Given the description of an element on the screen output the (x, y) to click on. 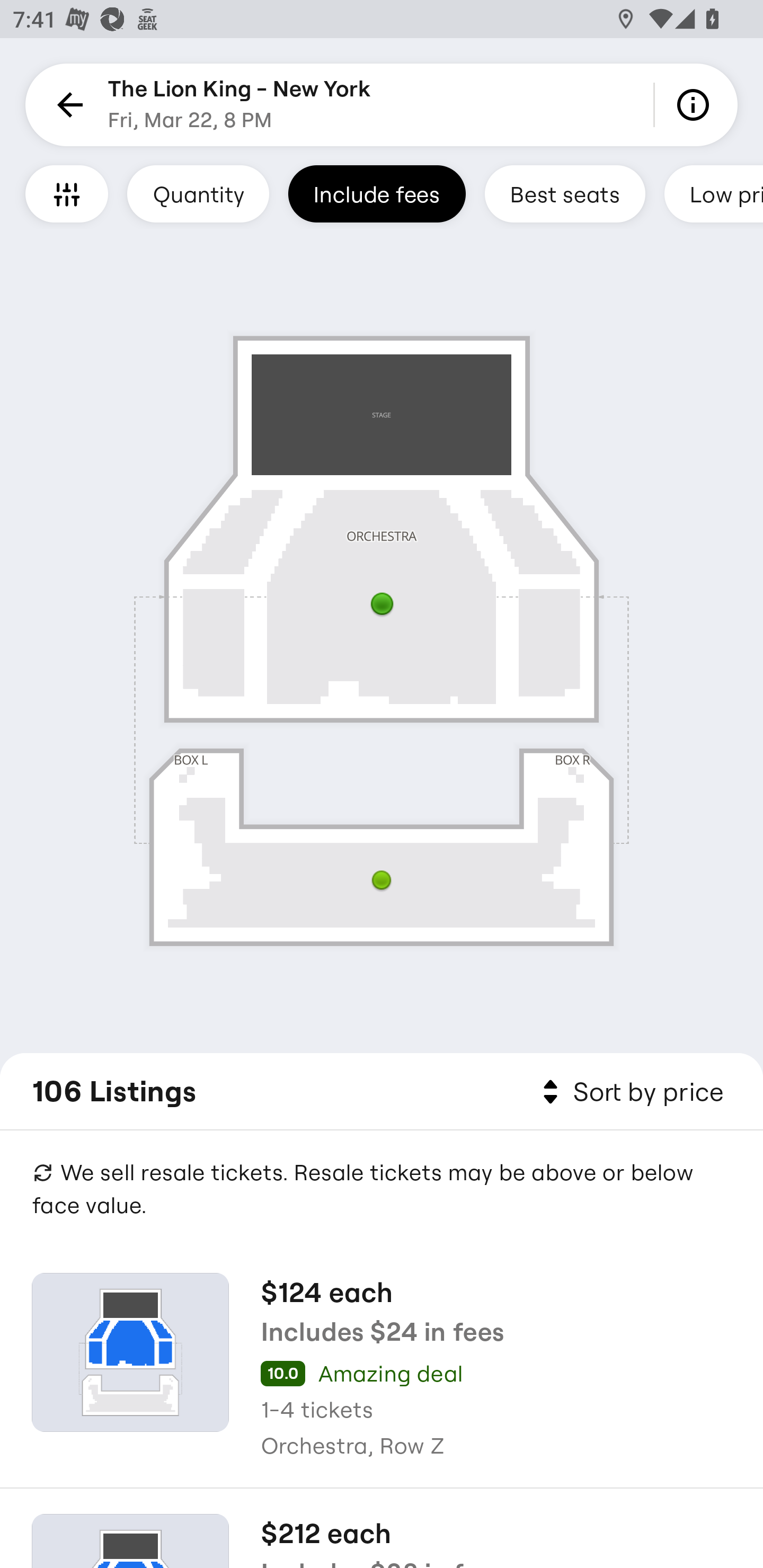
Back (66, 104)
The Lion King - New York Fri, Mar 22, 8 PM (239, 104)
Info (695, 104)
Filters and Accessible Seating (66, 193)
Quantity (198, 193)
Include fees (376, 193)
Best seats (564, 193)
Low prices (713, 193)
Sort by price (629, 1091)
